Given the description of an element on the screen output the (x, y) to click on. 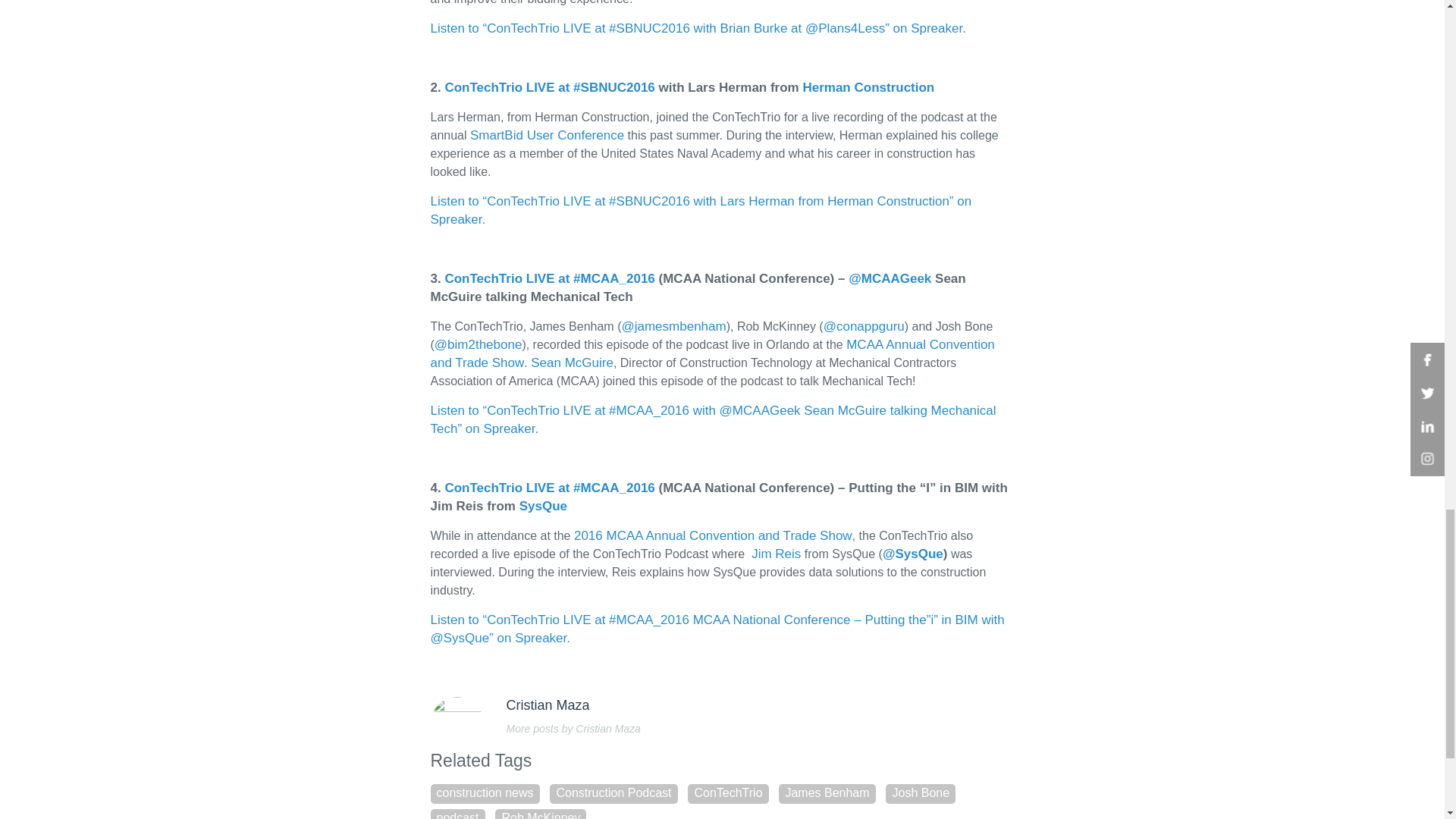
Construction Podcast Tag (613, 793)
podcast Tag (457, 814)
James Benham Tag (826, 793)
construction news Tag (485, 793)
Josh Bone Tag (920, 793)
ConTechTrio Tag (727, 793)
Rob McKinney Tag (540, 814)
